Given the description of an element on the screen output the (x, y) to click on. 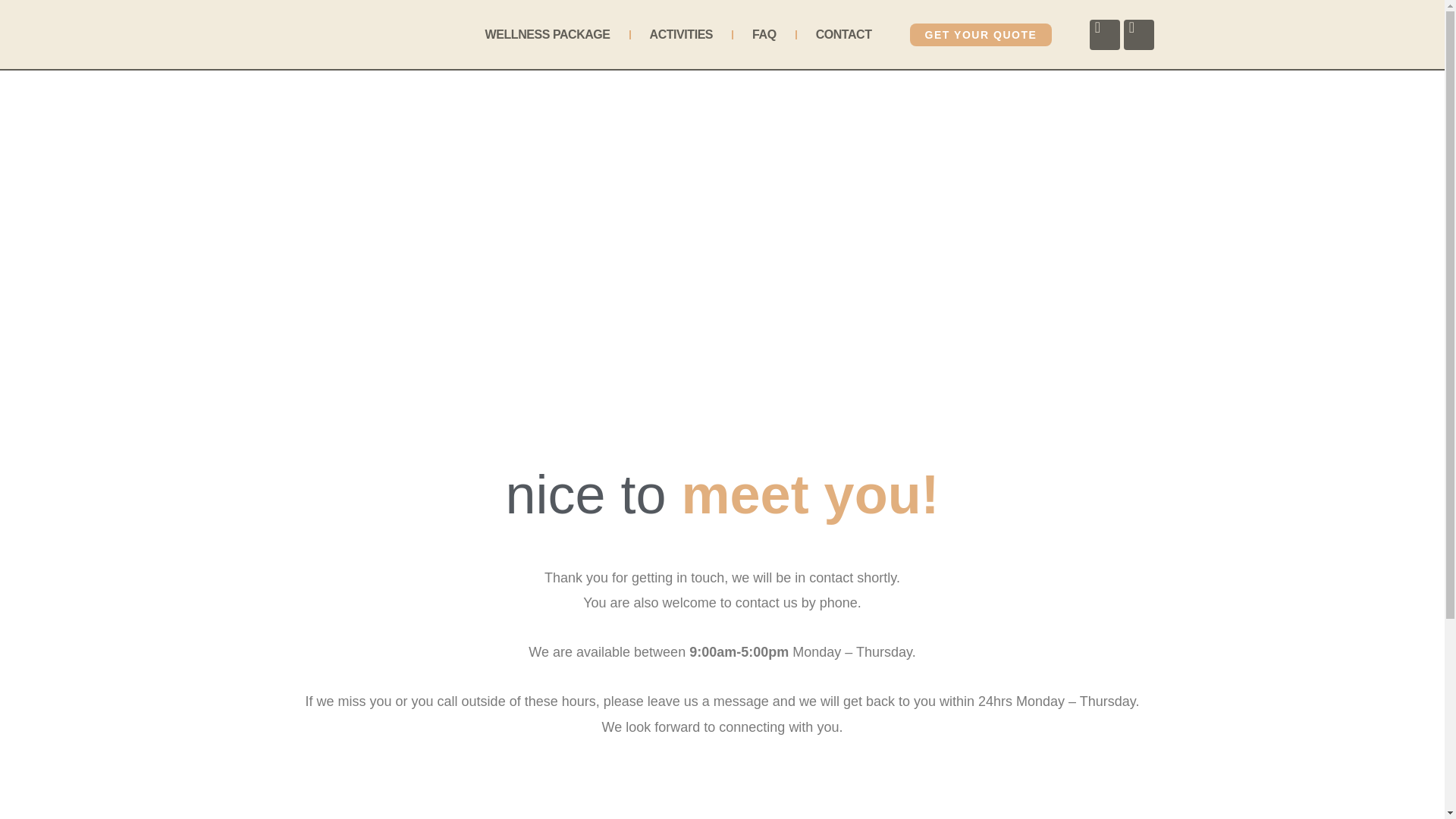
Facebook (1104, 34)
FAQ (764, 34)
ACTIVITIES (681, 34)
CONTACT (843, 34)
WELLNESS PACKAGE (547, 34)
GET YOUR QUOTE (981, 34)
Instagram (1139, 34)
